Given the description of an element on the screen output the (x, y) to click on. 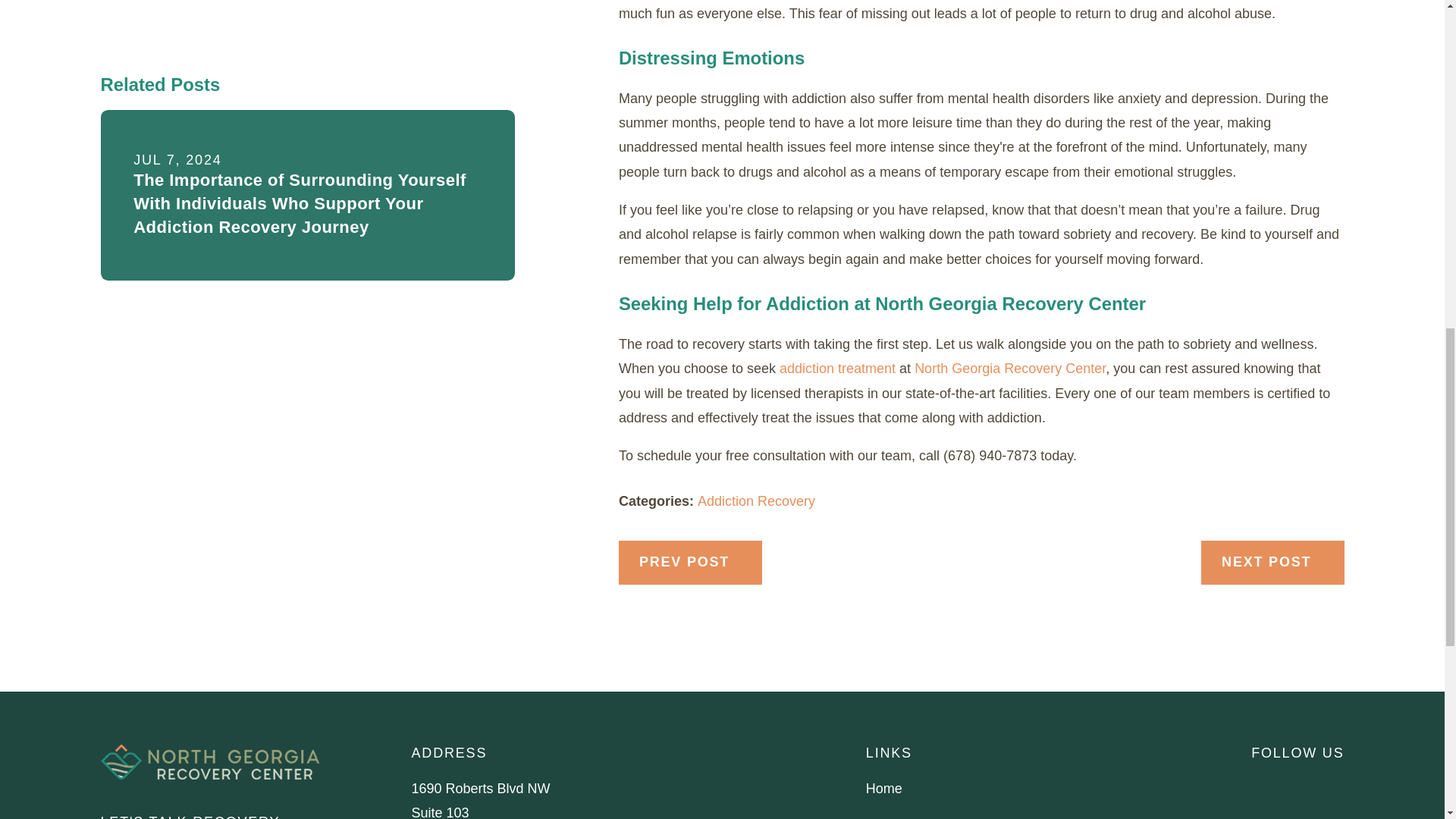
Facebook (1259, 785)
Home (209, 761)
Instagram (1299, 785)
